Given the description of an element on the screen output the (x, y) to click on. 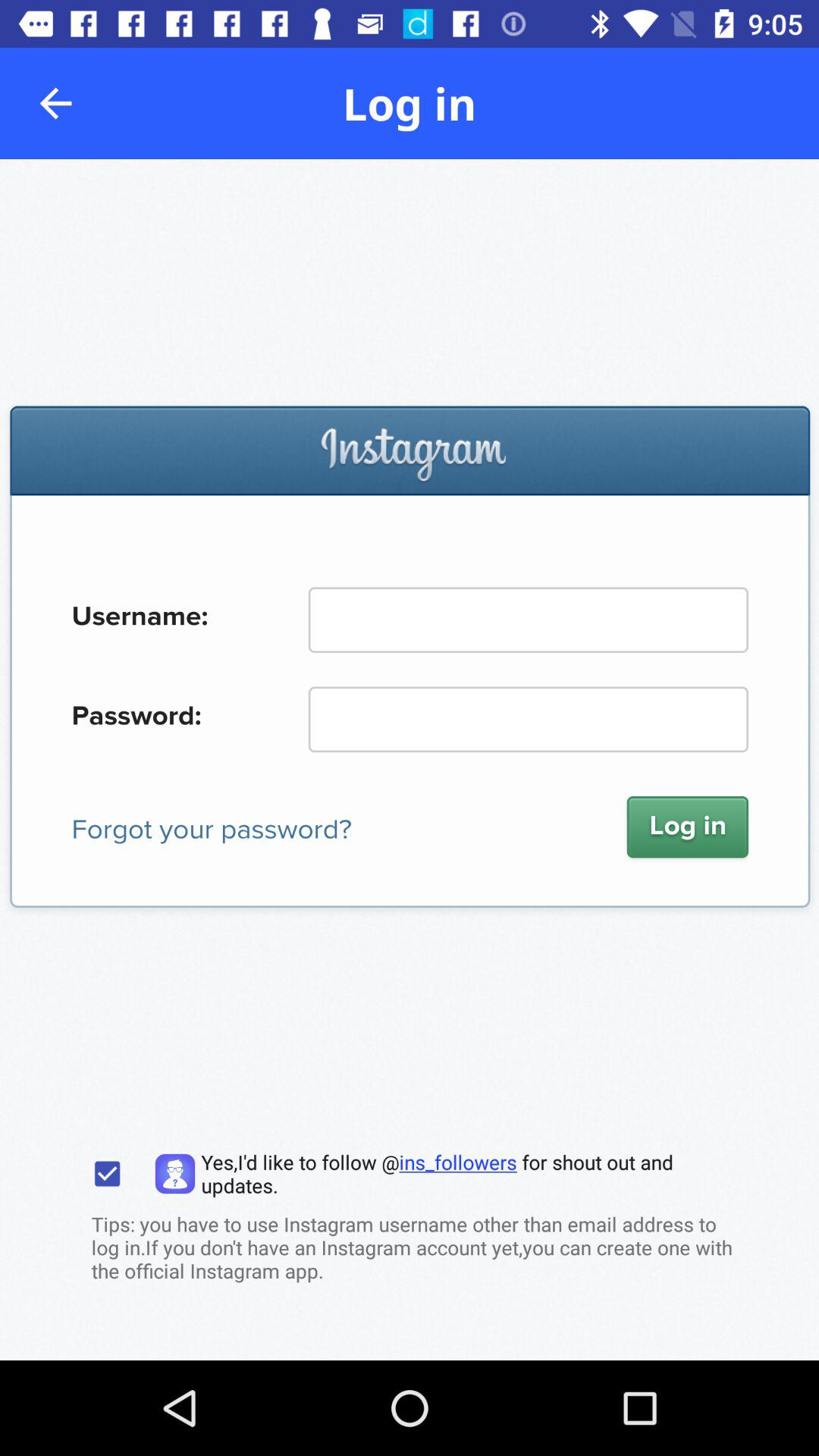
facebook (409, 759)
